Given the description of an element on the screen output the (x, y) to click on. 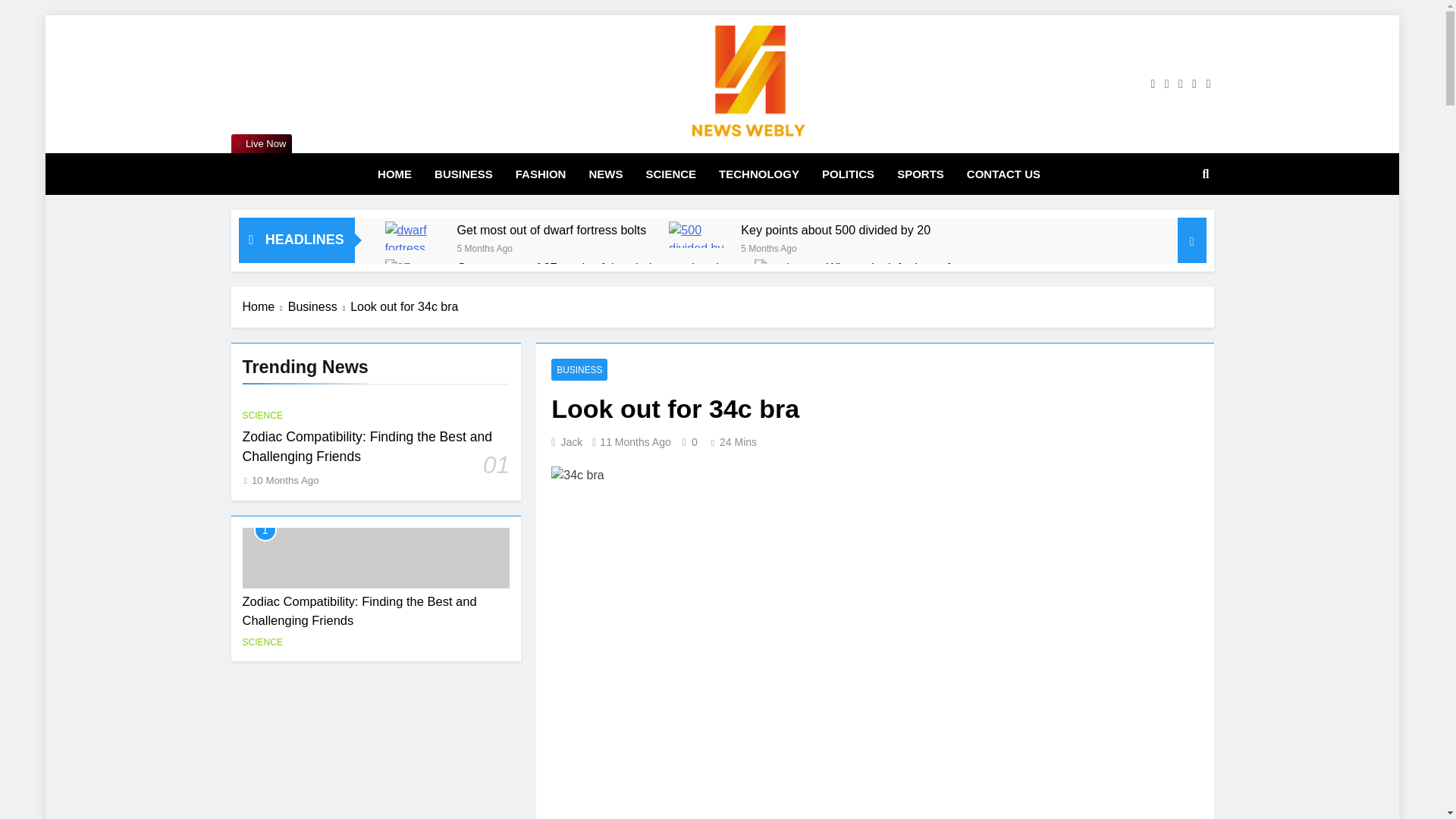
CONTACT US (1003, 173)
SCIENCE (670, 173)
Get most out of dwarf fortress bolts (413, 235)
BUSINESS (463, 173)
NEWS (604, 173)
Newswebly (561, 165)
Live Now (261, 143)
Key points about 500 divided by 20 (835, 229)
HOME (394, 173)
